Given the description of an element on the screen output the (x, y) to click on. 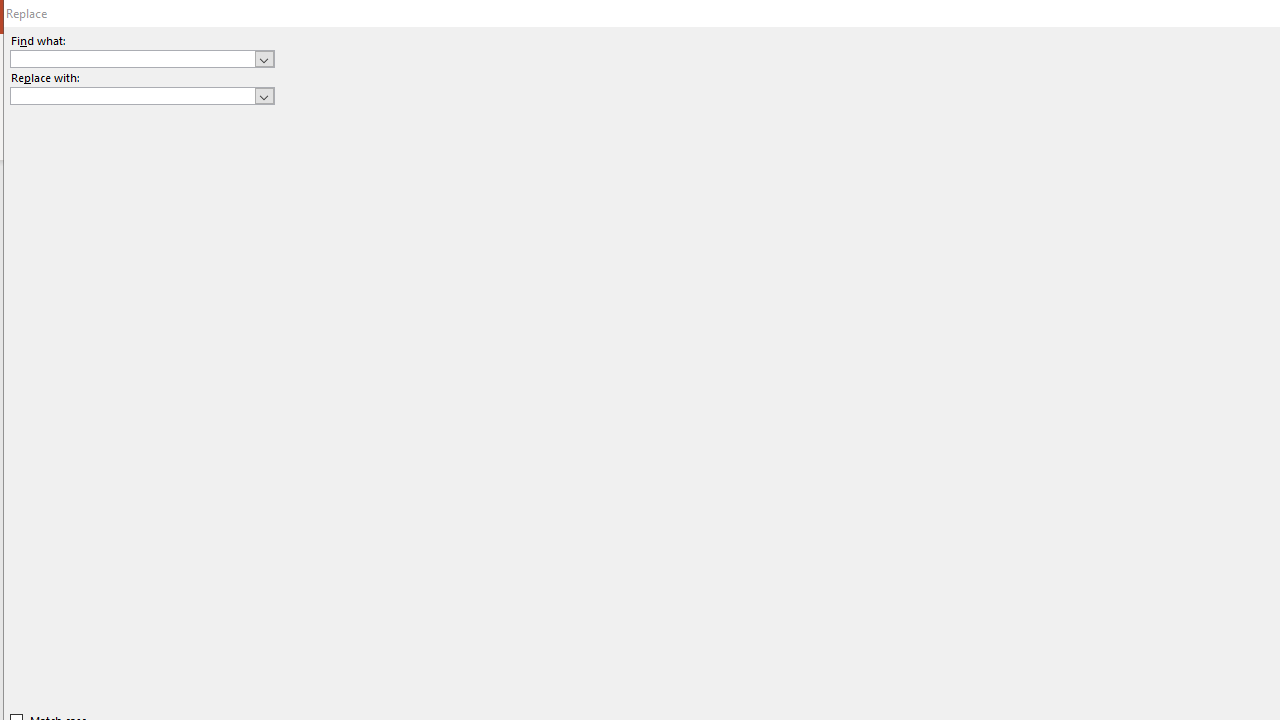
Replace with (132, 95)
